Given the description of an element on the screen output the (x, y) to click on. 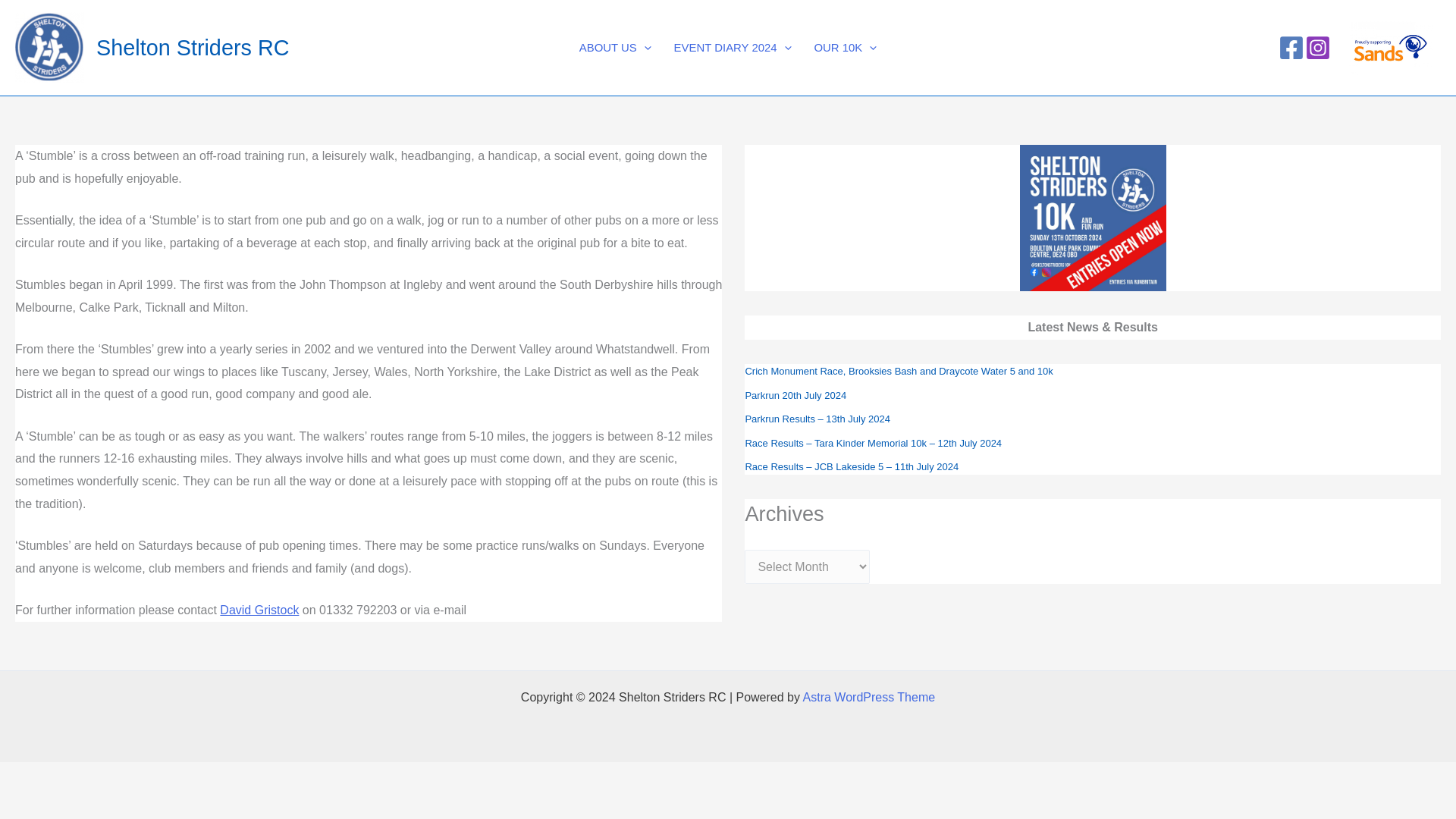
ABOUT US (614, 47)
EVENT DIARY 2024 (732, 47)
Shelton Striders RC (192, 47)
OUR 10K (845, 47)
